Given the description of an element on the screen output the (x, y) to click on. 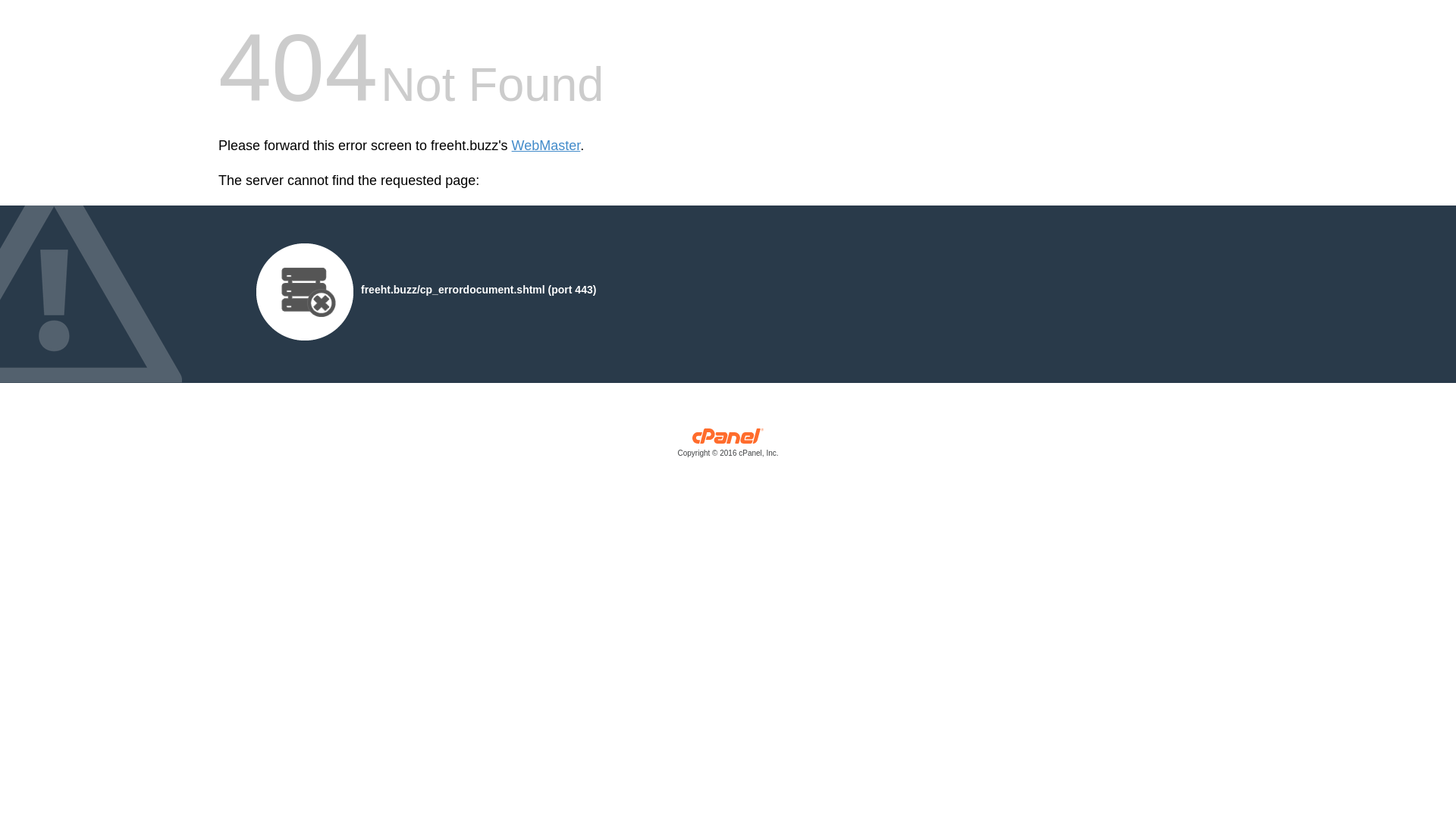
WebMaster (546, 145)
cPanel, Inc. (727, 446)
